Given the description of an element on the screen output the (x, y) to click on. 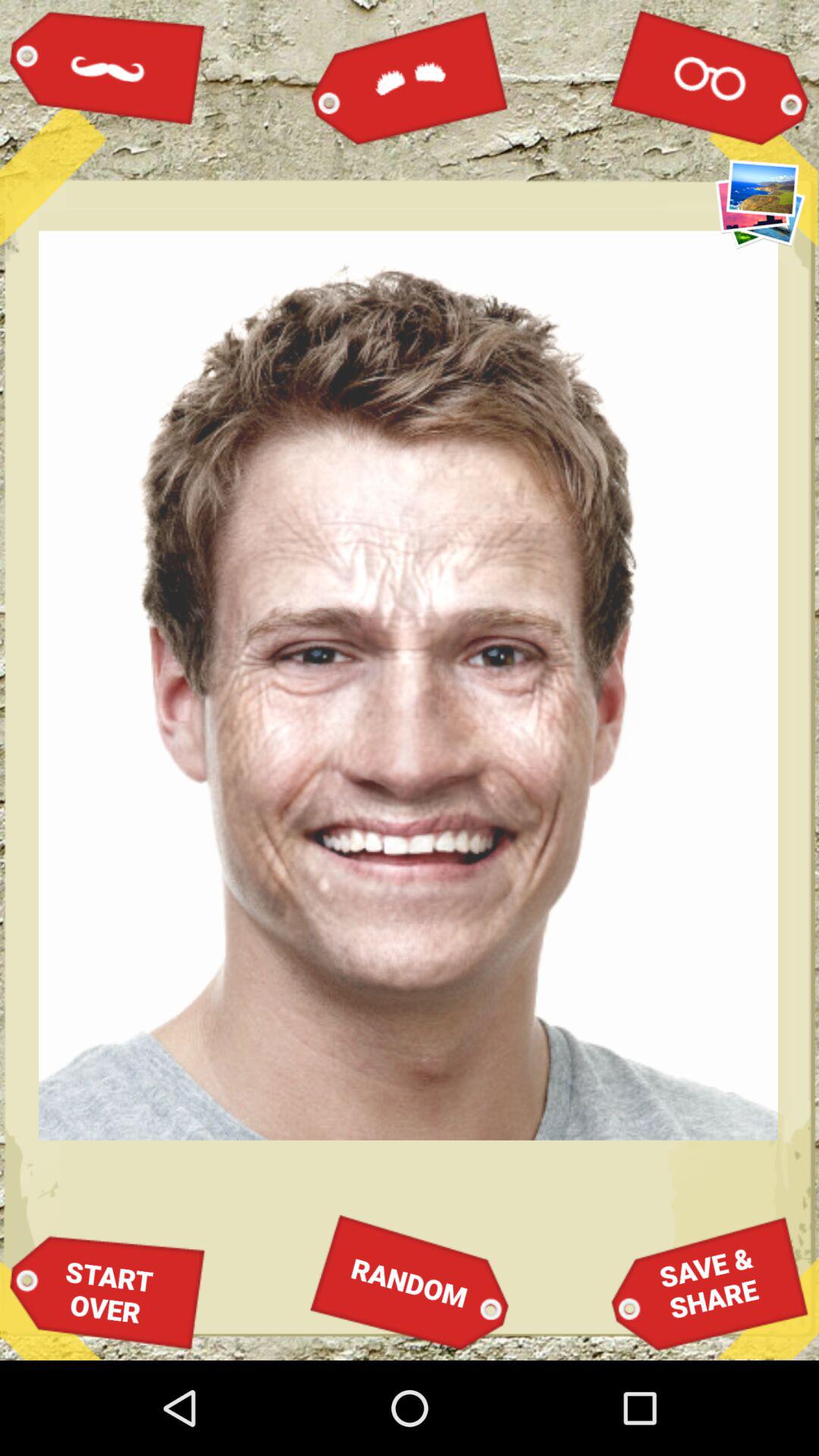
press icon at the top left corner (107, 67)
